Given the description of an element on the screen output the (x, y) to click on. 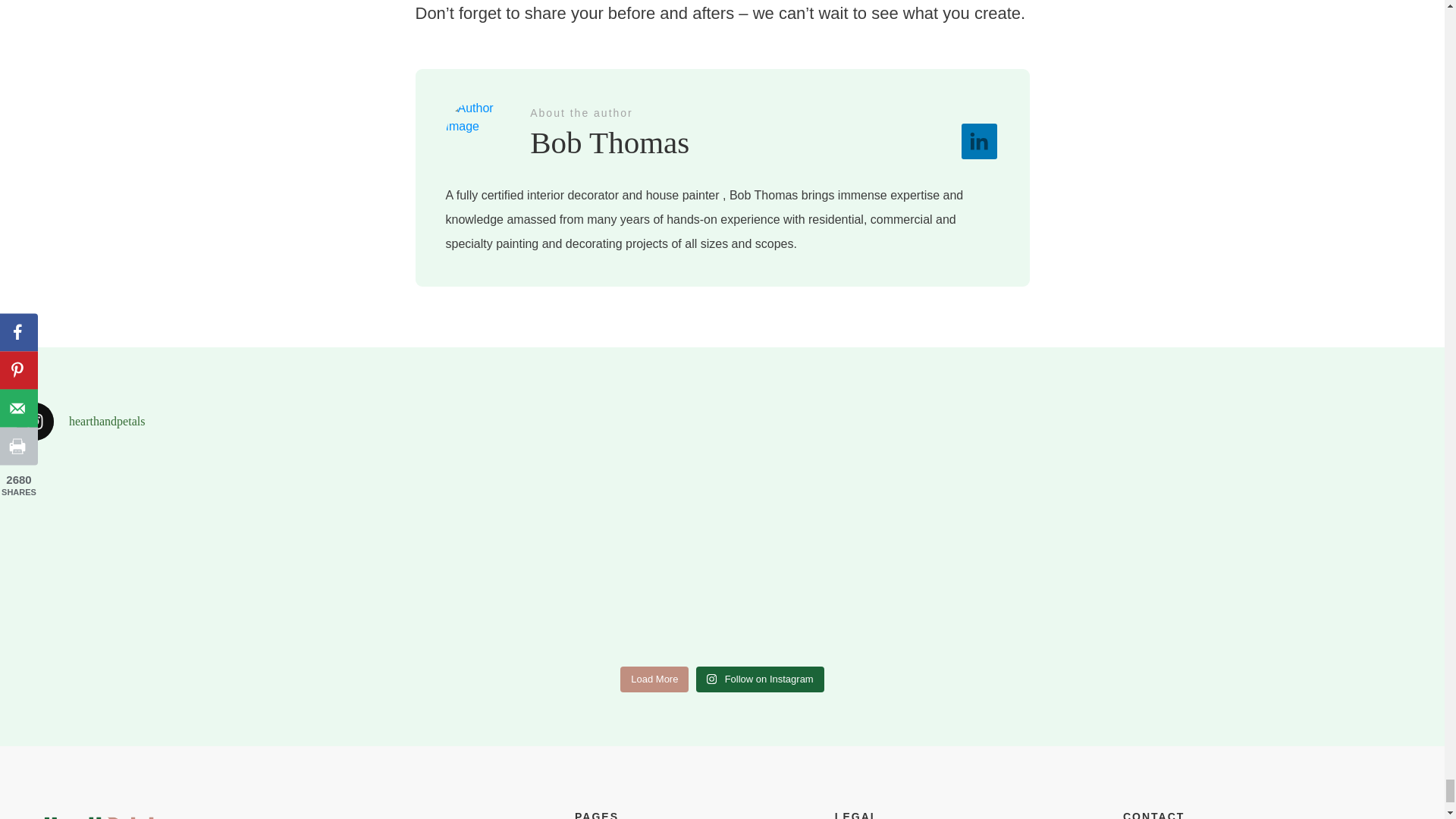
Load More (654, 679)
hearthandpetals (722, 421)
Follow on Instagram (759, 679)
